Given the description of an element on the screen output the (x, y) to click on. 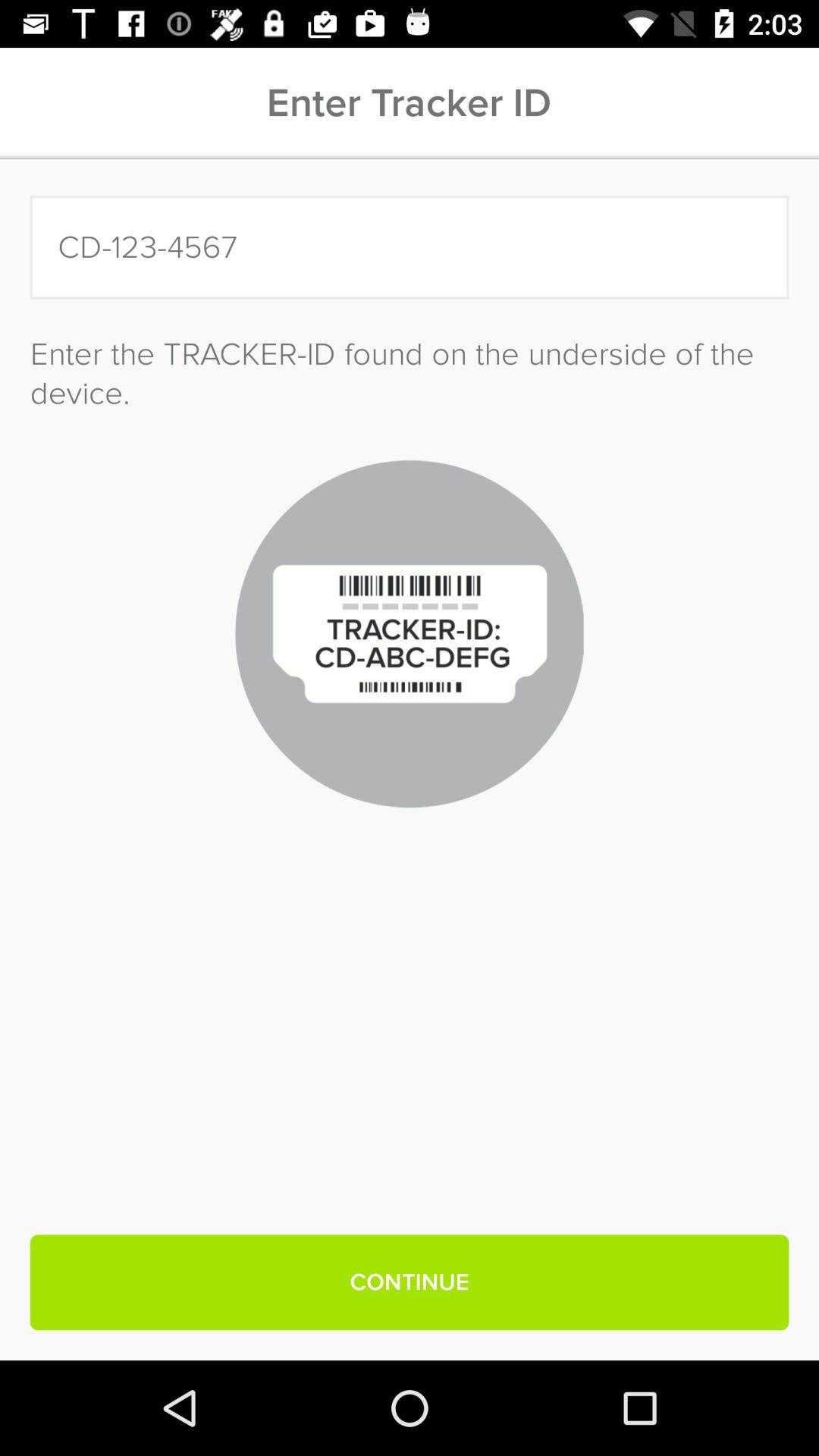
click item below the enter tracker id (409, 247)
